Given the description of an element on the screen output the (x, y) to click on. 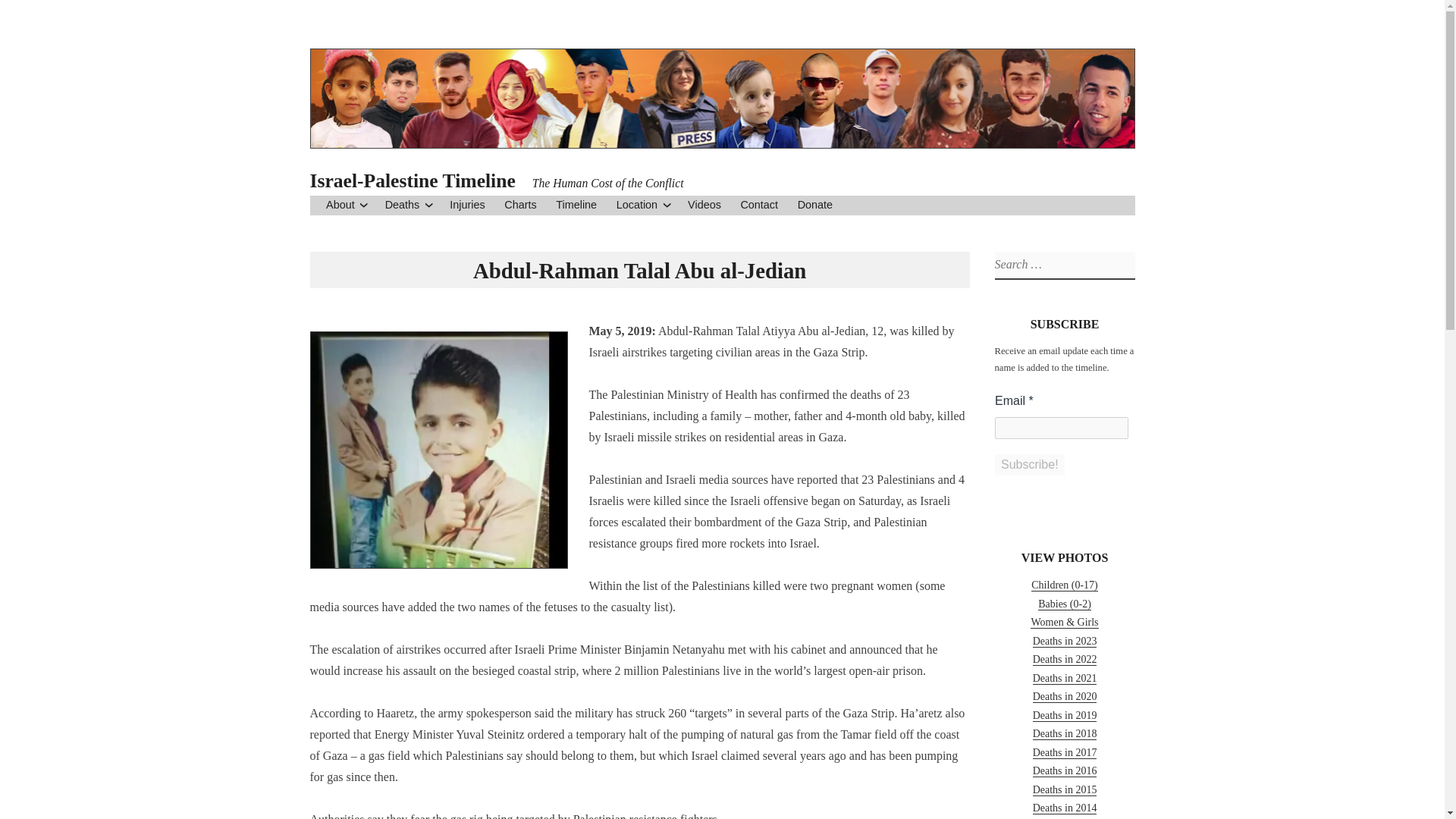
Israel-Palestine Timeline (411, 180)
Location (636, 204)
Timeline (576, 204)
Donate (814, 204)
Deaths (402, 204)
About (340, 204)
Charts (519, 204)
Videos (703, 204)
Injuries (466, 204)
Contact (758, 204)
